Given the description of an element on the screen output the (x, y) to click on. 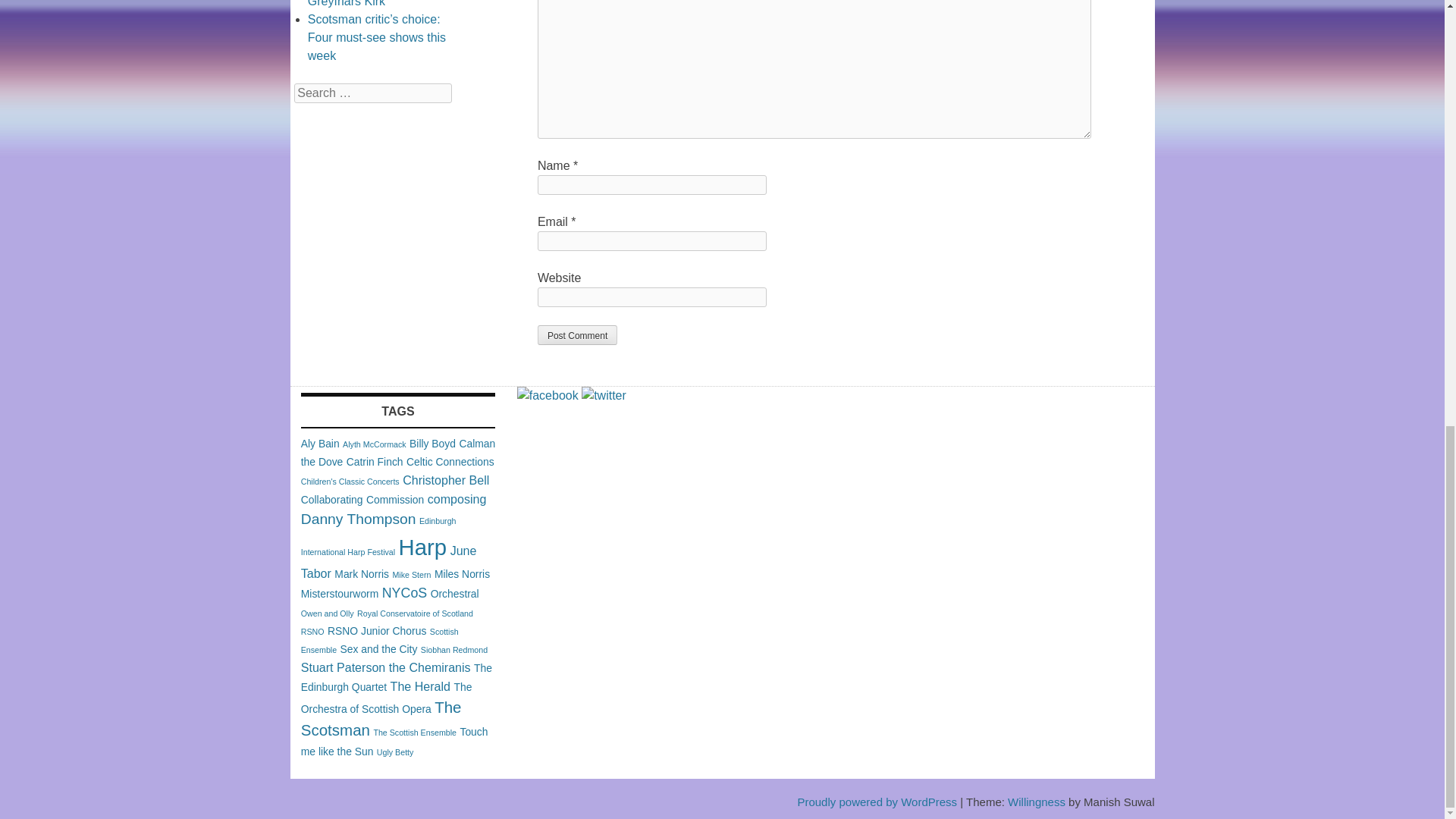
Post Comment (577, 334)
Post Comment (577, 334)
A Semantic Personal Publishing Platform (876, 801)
